Given the description of an element on the screen output the (x, y) to click on. 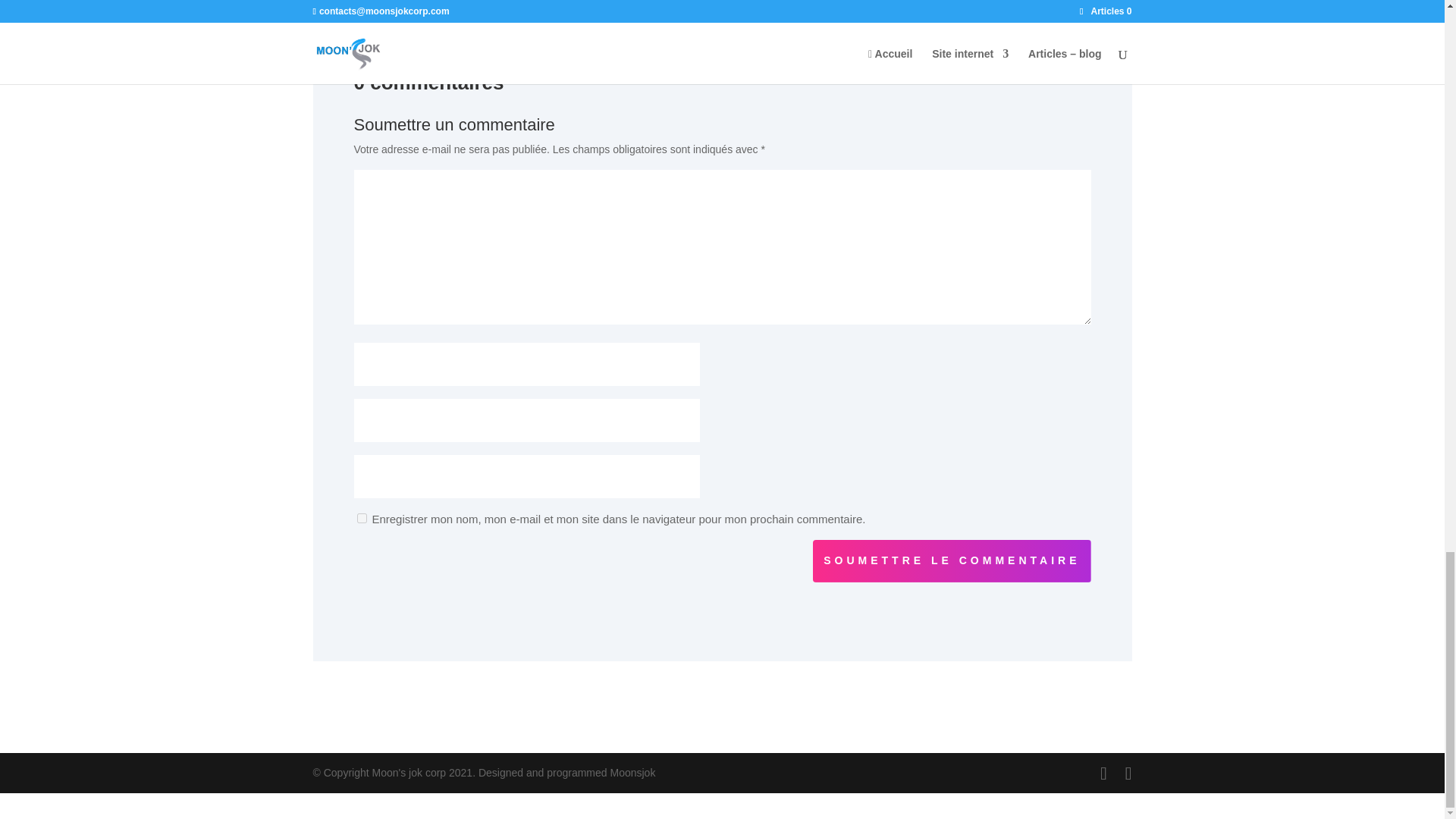
yes (361, 518)
SOUMETTRE LE COMMENTAIRE (951, 560)
